Given the description of an element on the screen output the (x, y) to click on. 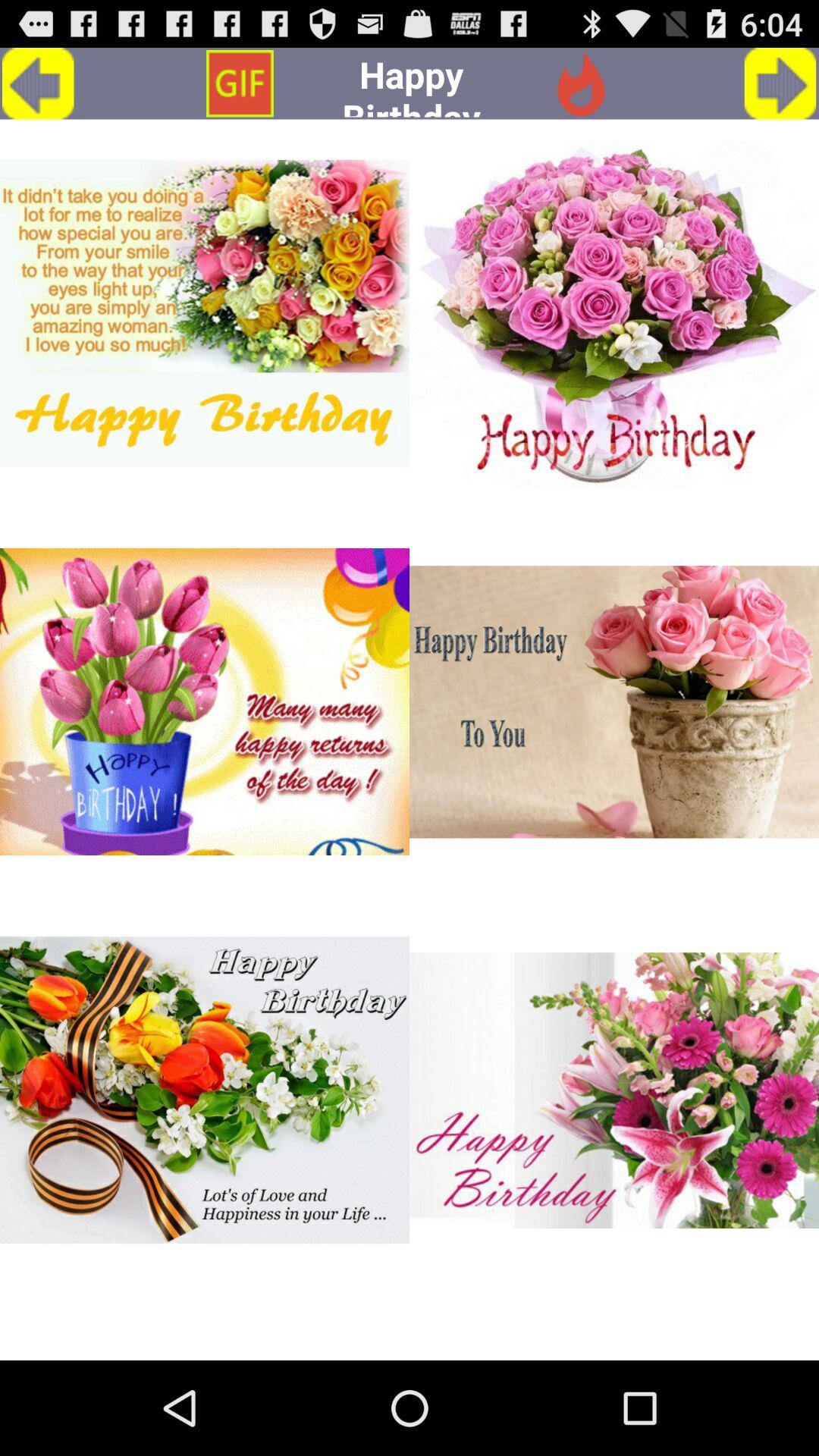
select this gif (204, 1090)
